Given the description of an element on the screen output the (x, y) to click on. 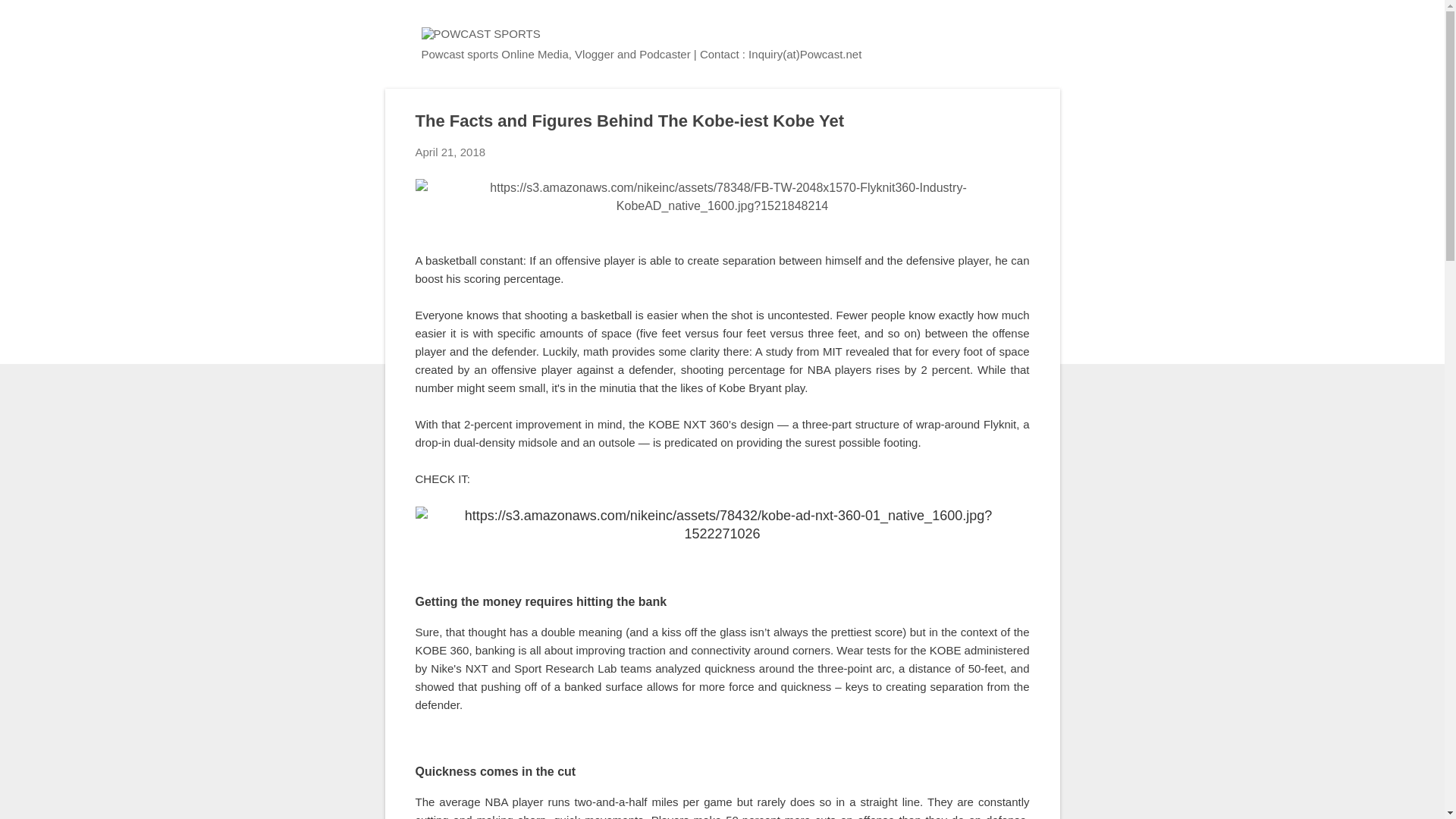
permanent link (450, 151)
Search (29, 18)
April 21, 2018 (450, 151)
